Given the description of an element on the screen output the (x, y) to click on. 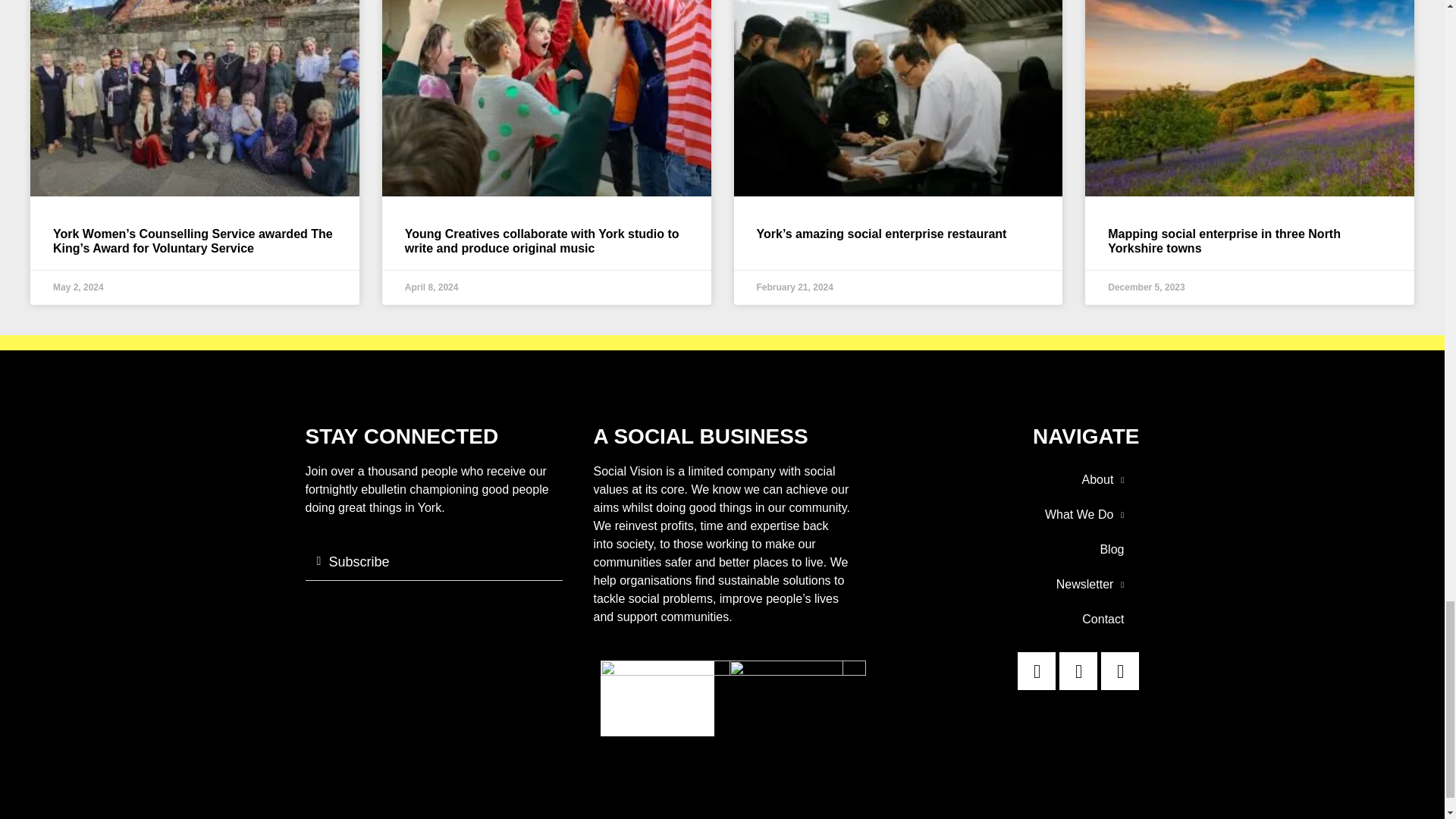
Subscribe (359, 561)
Blog (1009, 549)
Mapping social enterprise in three North Yorkshire towns (1224, 240)
About (1009, 479)
What We Do (1009, 514)
